Given the description of an element on the screen output the (x, y) to click on. 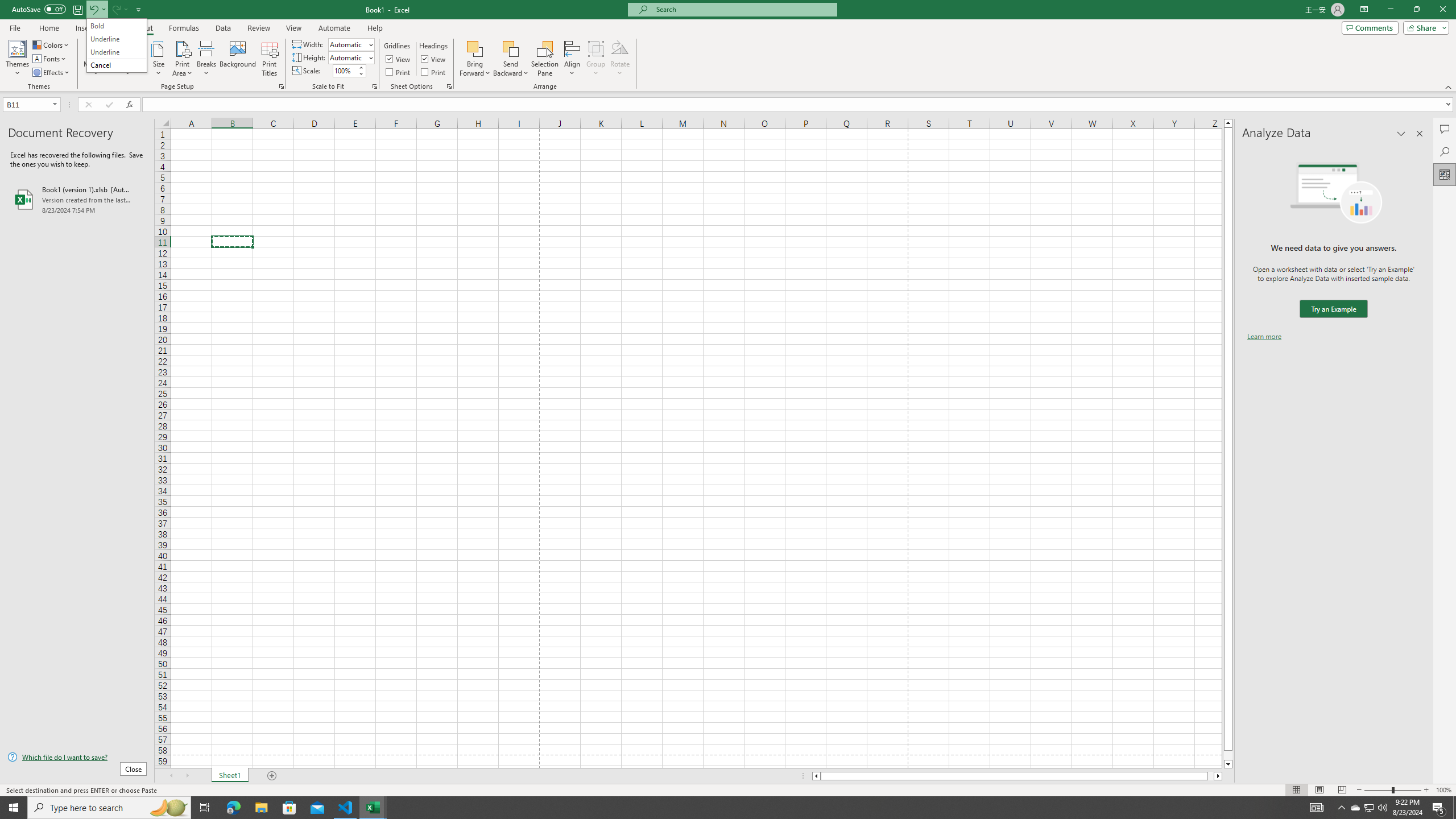
Print Area (182, 58)
Height (350, 56)
Height (347, 57)
Less (360, 73)
Running applications (717, 807)
